Given the description of an element on the screen output the (x, y) to click on. 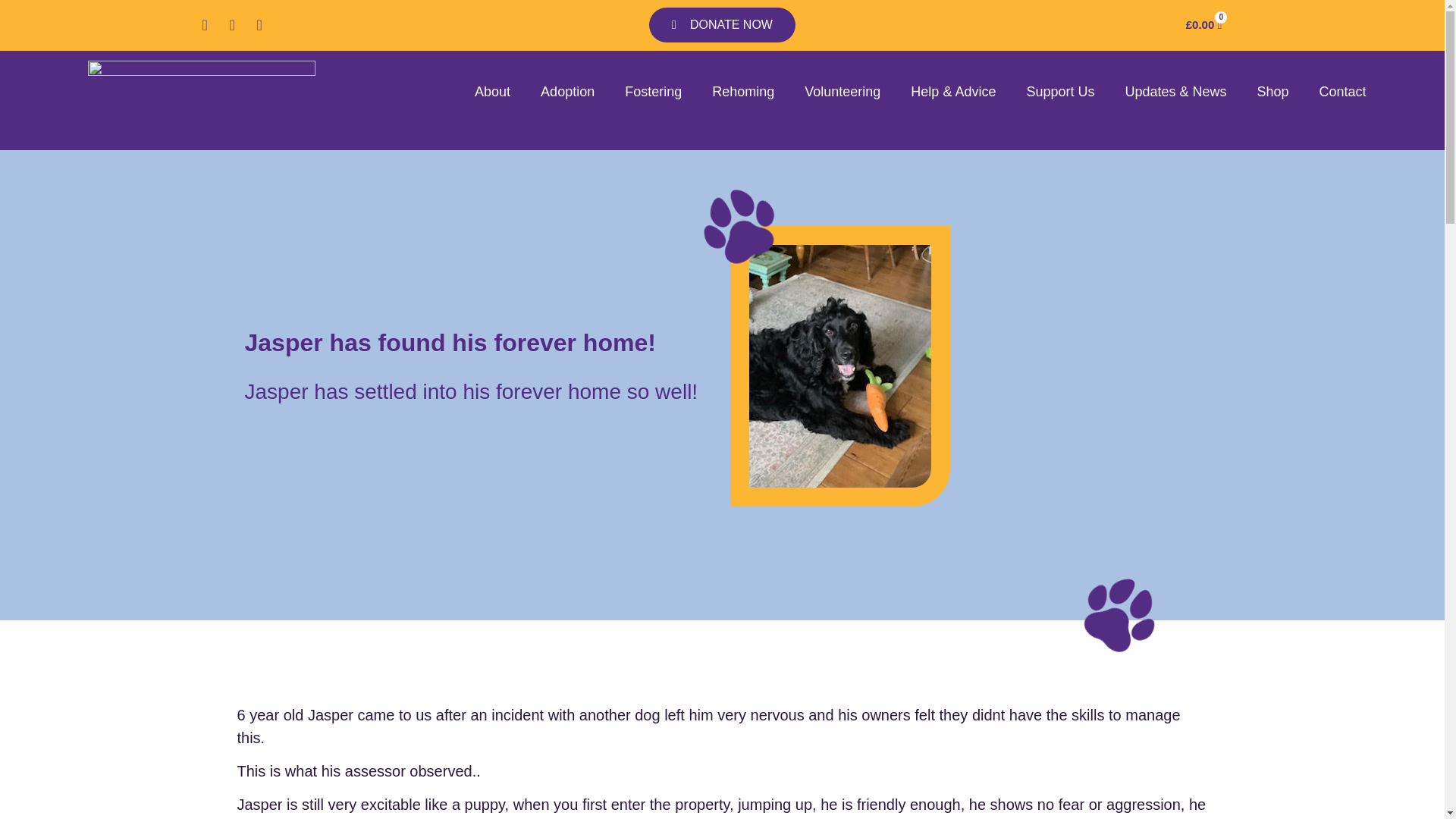
Adoption (567, 91)
Rehoming (743, 91)
Support Us (1059, 91)
Fostering (653, 91)
Volunteering (842, 91)
DONATE NOW (721, 24)
About (492, 91)
